Given the description of an element on the screen output the (x, y) to click on. 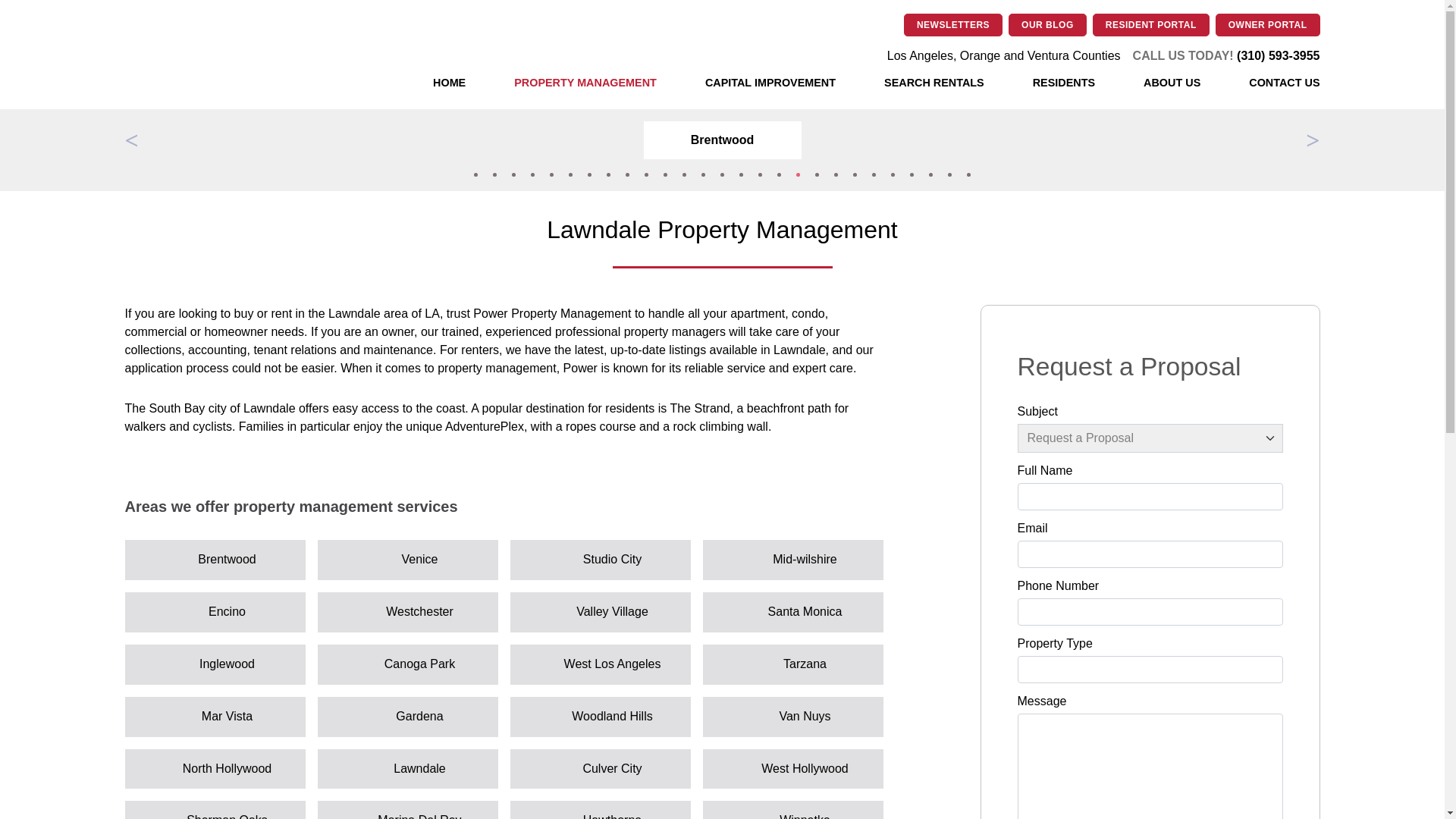
CONTACT US (1284, 82)
CAPITAL IMPROVEMENT (769, 82)
HOME (448, 82)
NEWSLETTERS (953, 24)
ABOUT US (1170, 82)
RESIDENT PORTAL (1151, 24)
RESIDENTS (1063, 82)
OUR BLOG (1047, 24)
PROPERTY MANAGEMENT (584, 82)
